Given the description of an element on the screen output the (x, y) to click on. 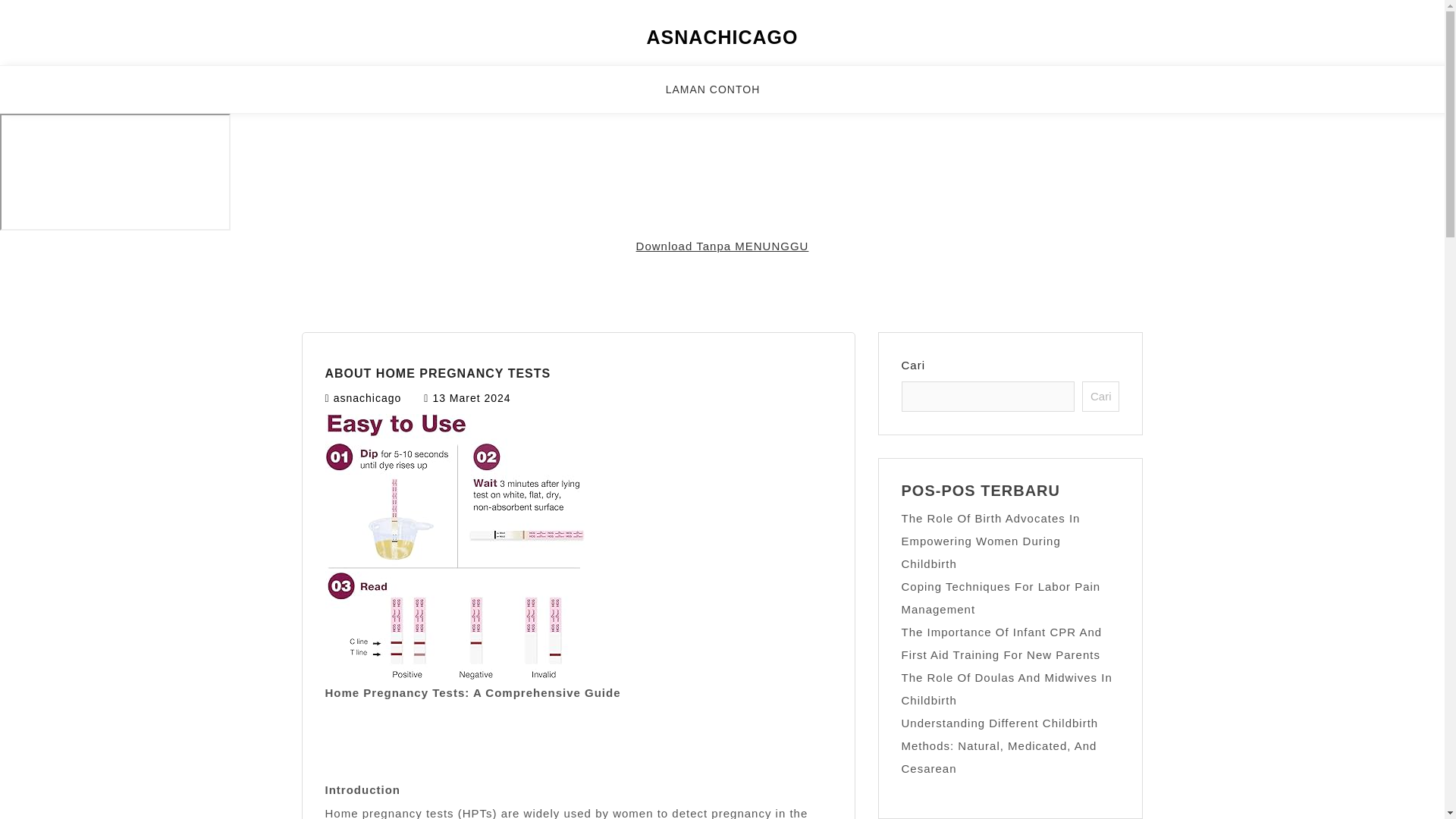
Coping Techniques For Labor Pain Management (1000, 597)
Download Tanpa MENUNGGU (722, 245)
Cari (1100, 396)
asnachicago (367, 398)
13 Maret 2024 (471, 398)
The Role Of Doulas And Midwives In Childbirth (1006, 688)
LAMAN CONTOH (721, 96)
ASNACHICAGO (721, 36)
